Given the description of an element on the screen output the (x, y) to click on. 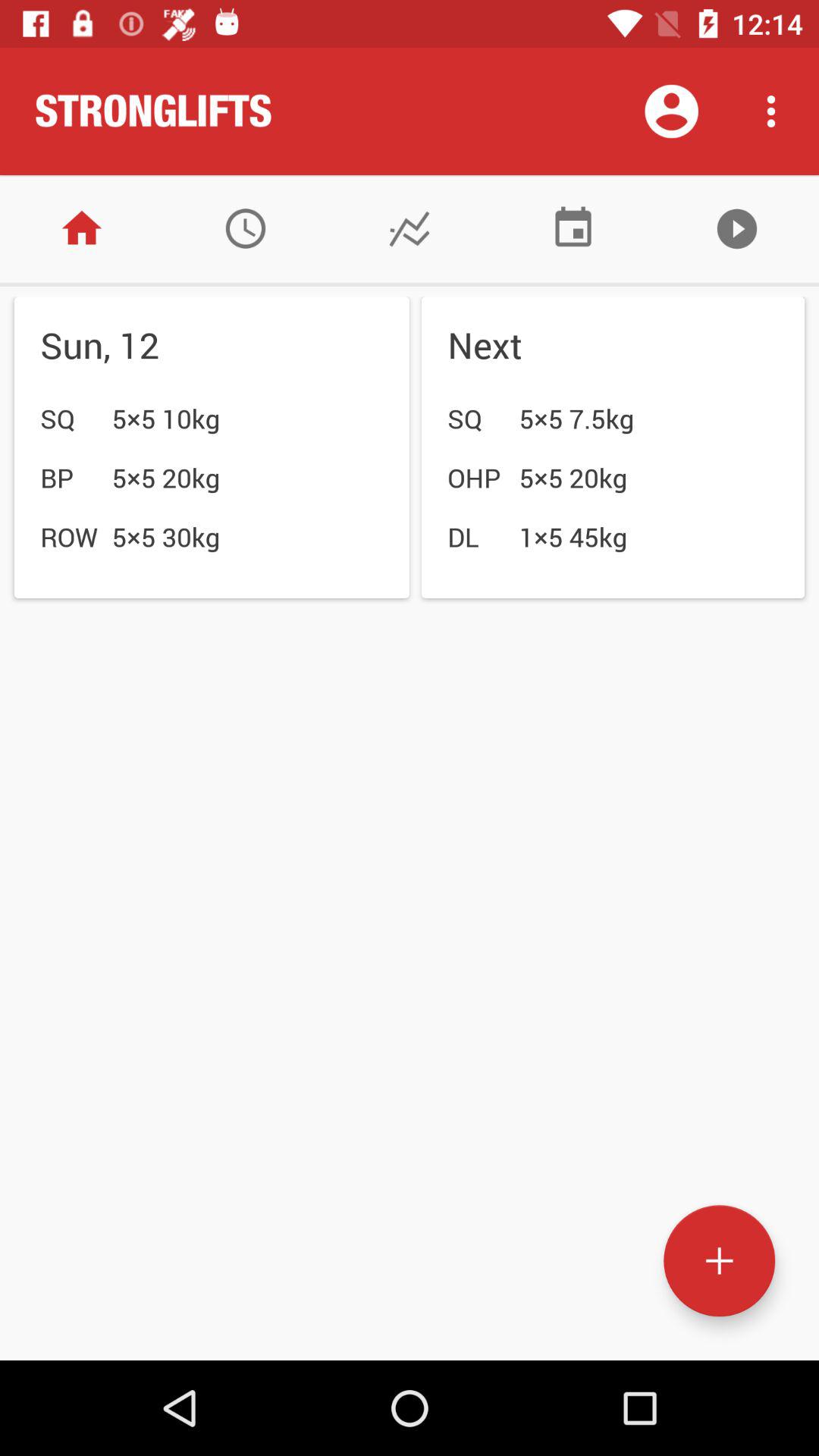
action button (719, 1260)
